Given the description of an element on the screen output the (x, y) to click on. 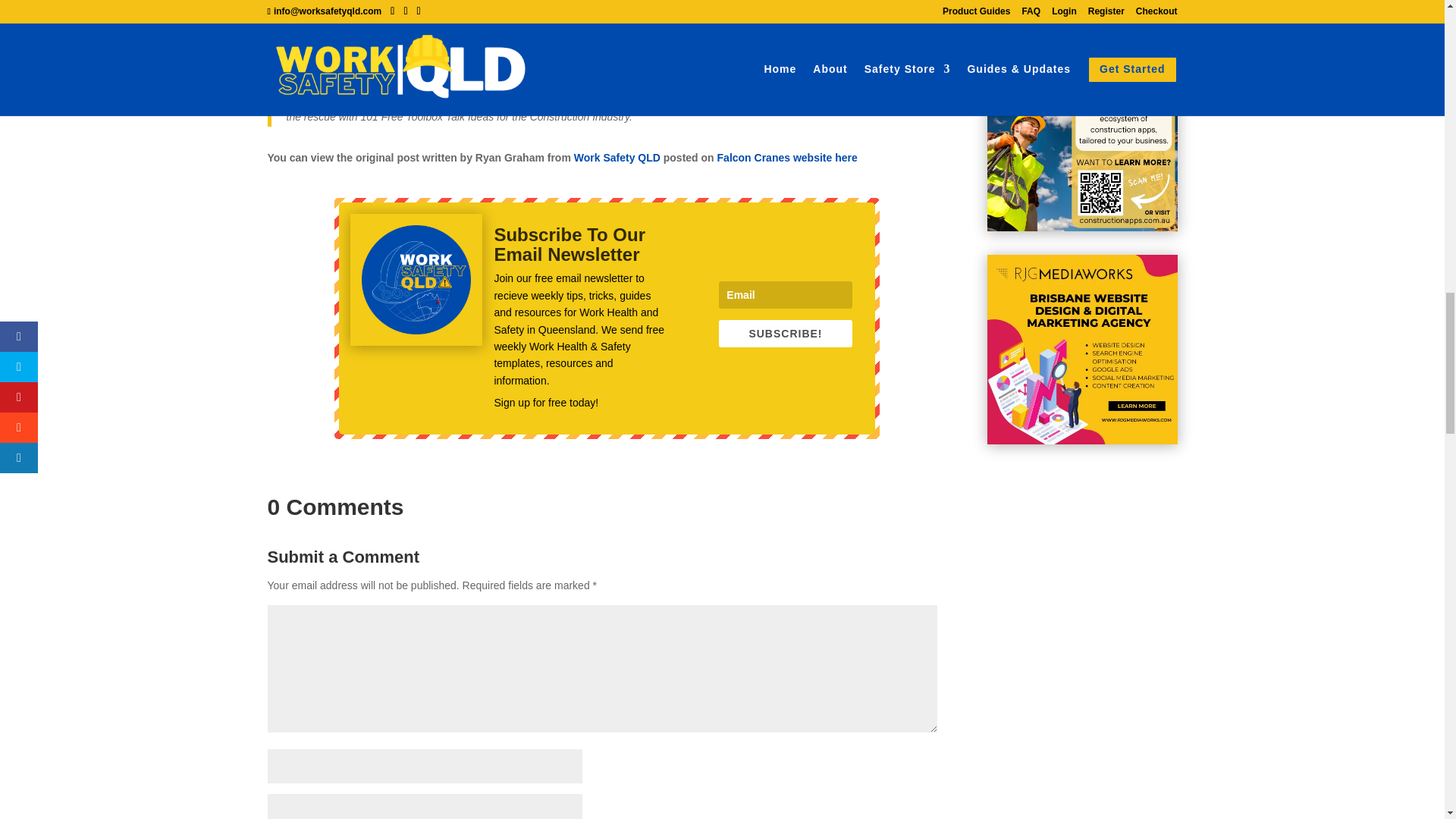
RJG Mediaworks - Brisbane digital marketing agency (1082, 349)
Construction Apps (1082, 135)
